Given the description of an element on the screen output the (x, y) to click on. 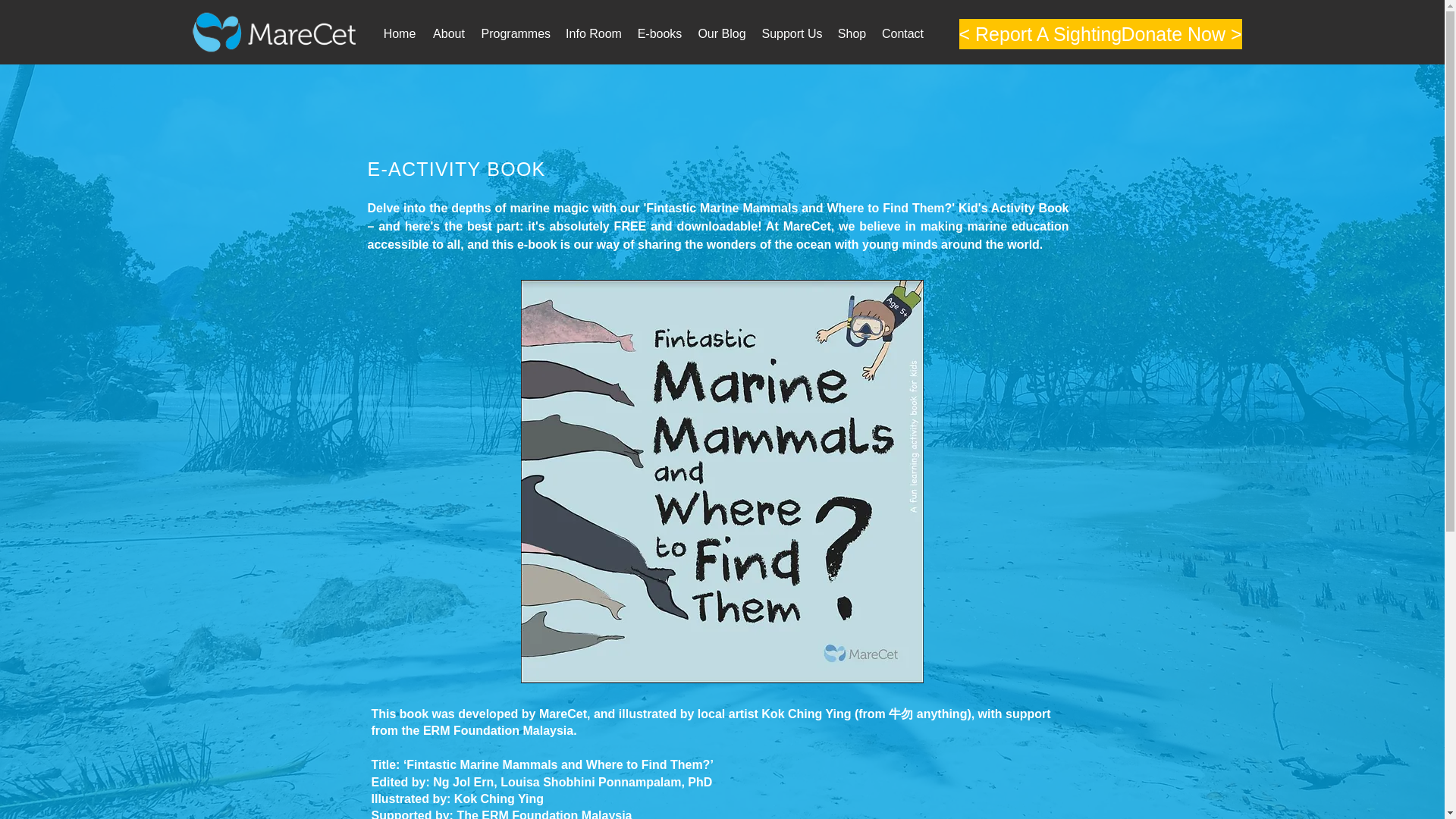
Home (398, 33)
About (449, 33)
Shop (851, 33)
